Given the description of an element on the screen output the (x, y) to click on. 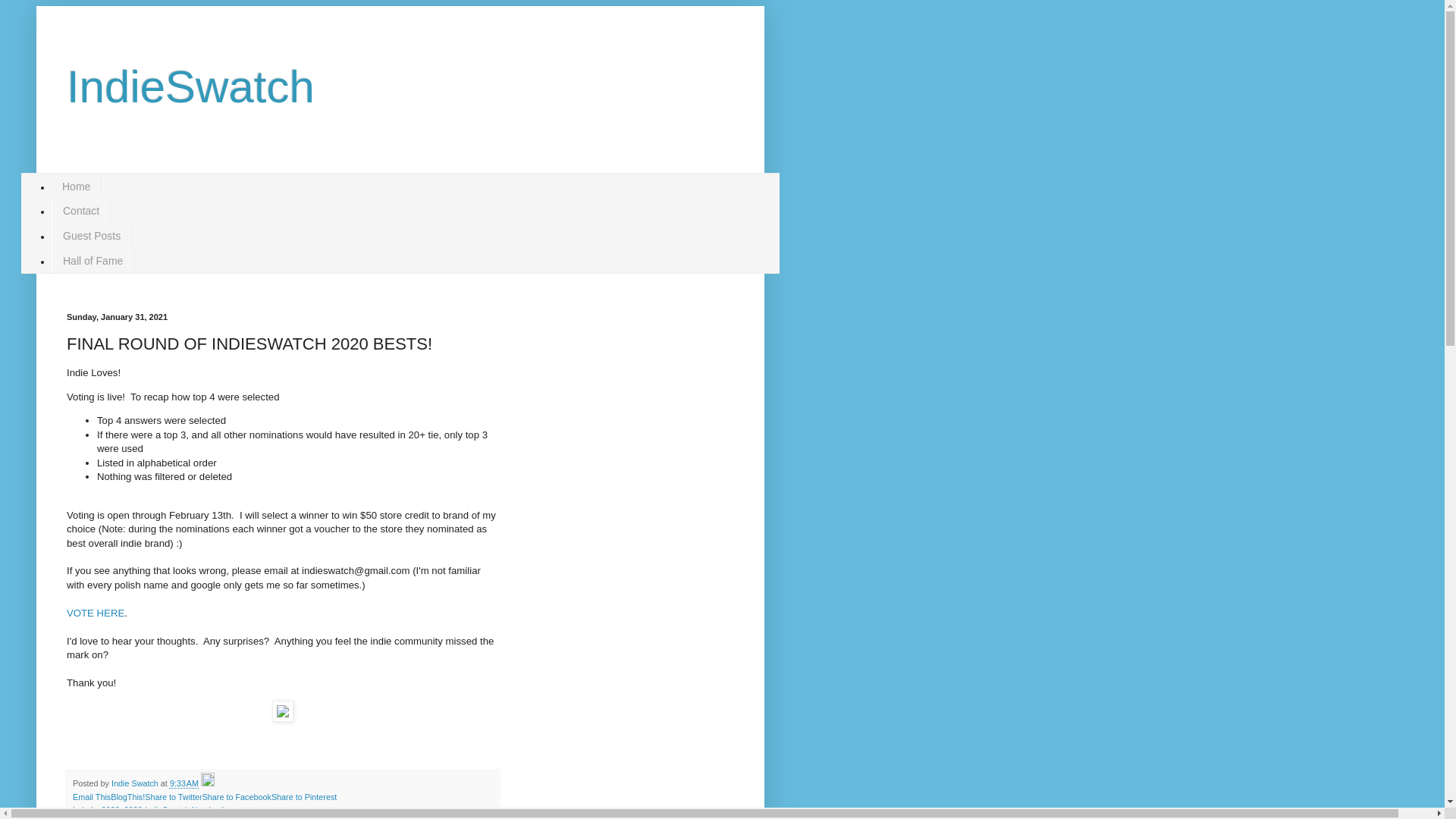
2020 (110, 809)
VOTE HERE (94, 613)
Email This (91, 796)
BlogThis! (127, 796)
2020 IndieSwatch Nominations (180, 809)
Indie Swatch (136, 782)
Share to Facebook (236, 796)
Hall of Fame (91, 260)
Contact (80, 211)
BlogThis! (127, 796)
Share to Pinterest (303, 796)
Home (75, 186)
permanent link (184, 782)
Email This (91, 796)
Guest Posts (91, 235)
